Given the description of an element on the screen output the (x, y) to click on. 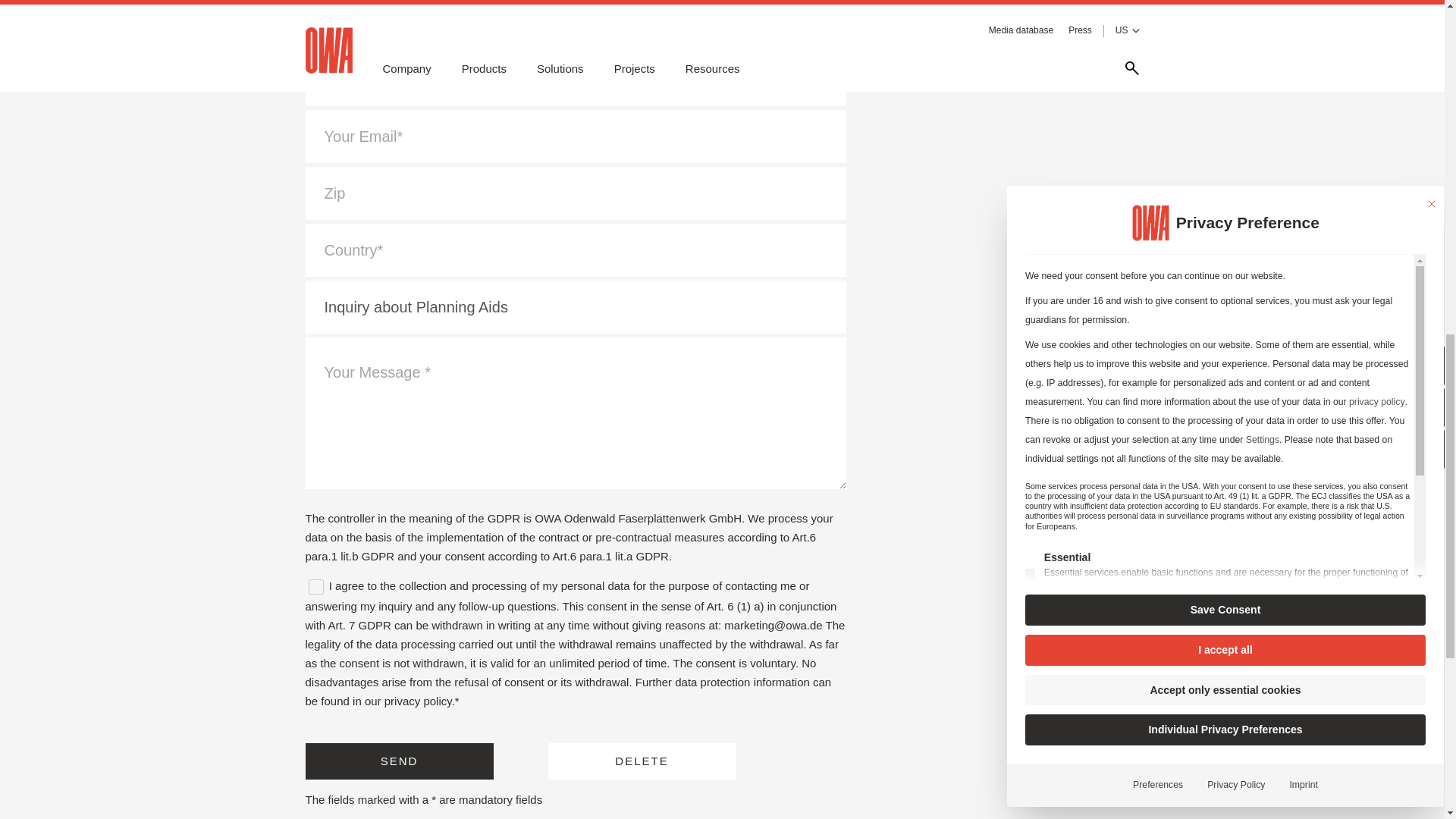
delete (641, 760)
1 (315, 586)
send (398, 760)
Inquiry about Planning Aids (574, 306)
